Given the description of an element on the screen output the (x, y) to click on. 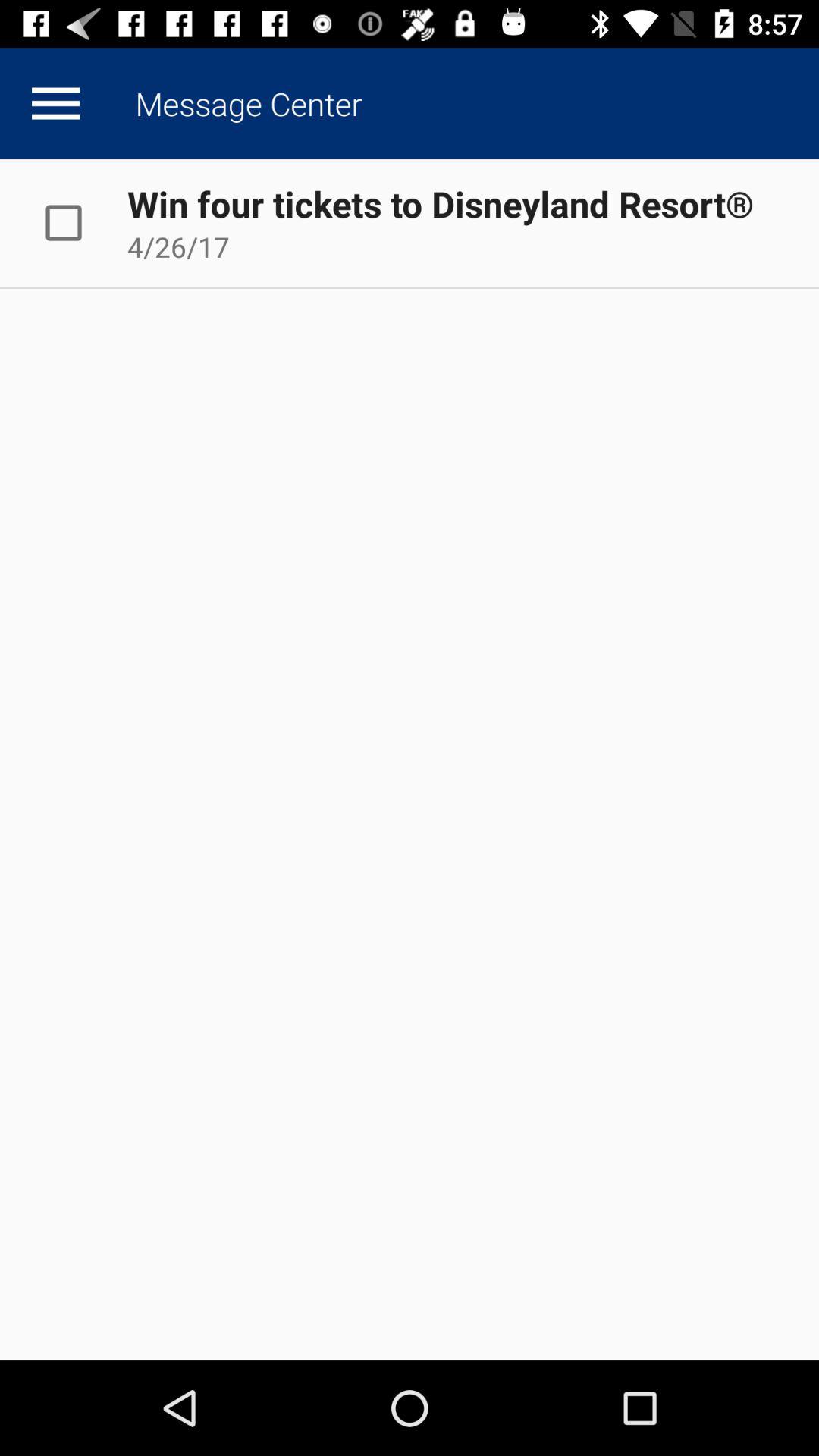
open the win four tickets (440, 203)
